Given the description of an element on the screen output the (x, y) to click on. 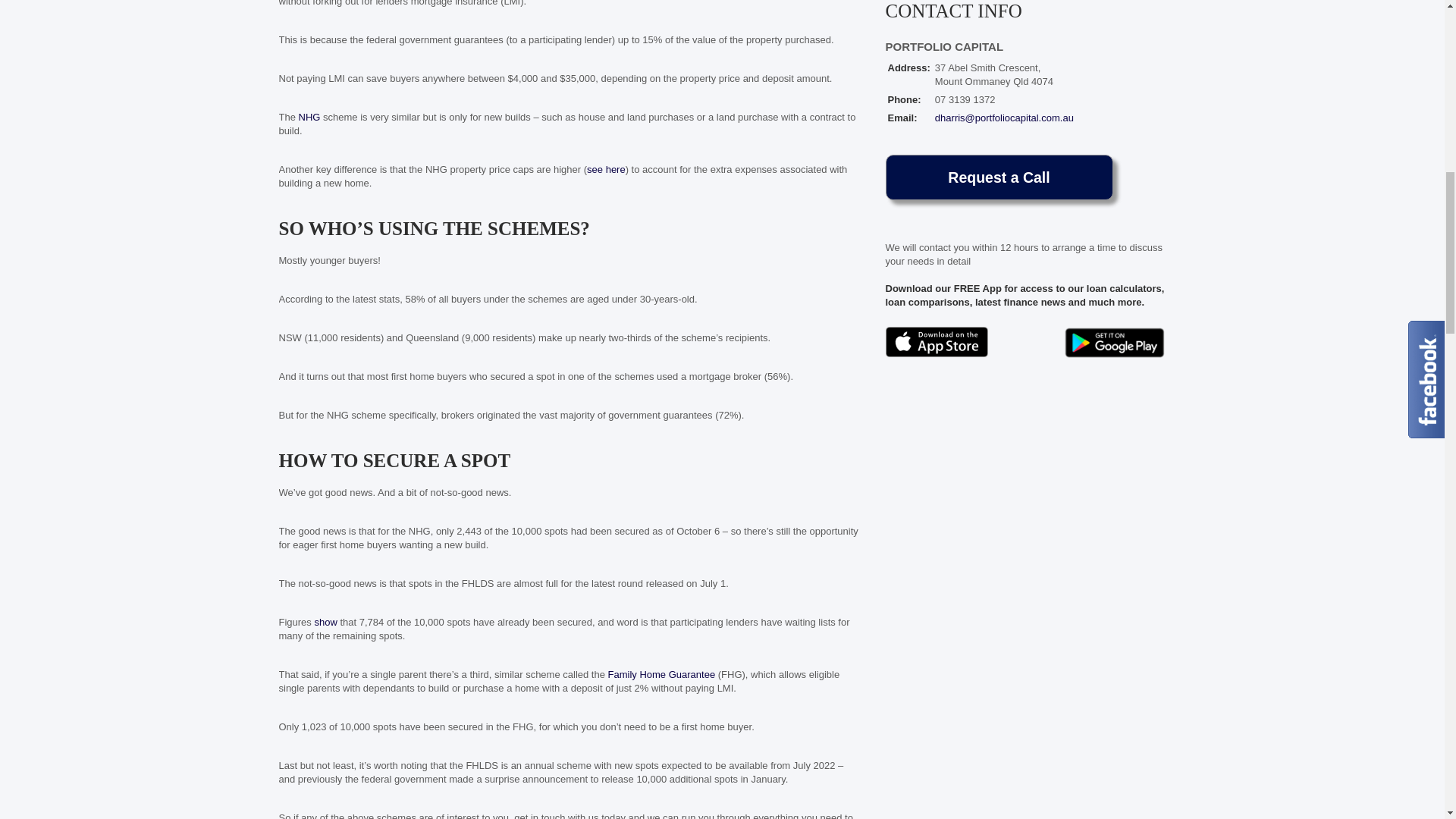
Family Home Guarantee (662, 674)
NHG (309, 116)
Request a Call (999, 176)
see here (606, 169)
show (325, 622)
